Given the description of an element on the screen output the (x, y) to click on. 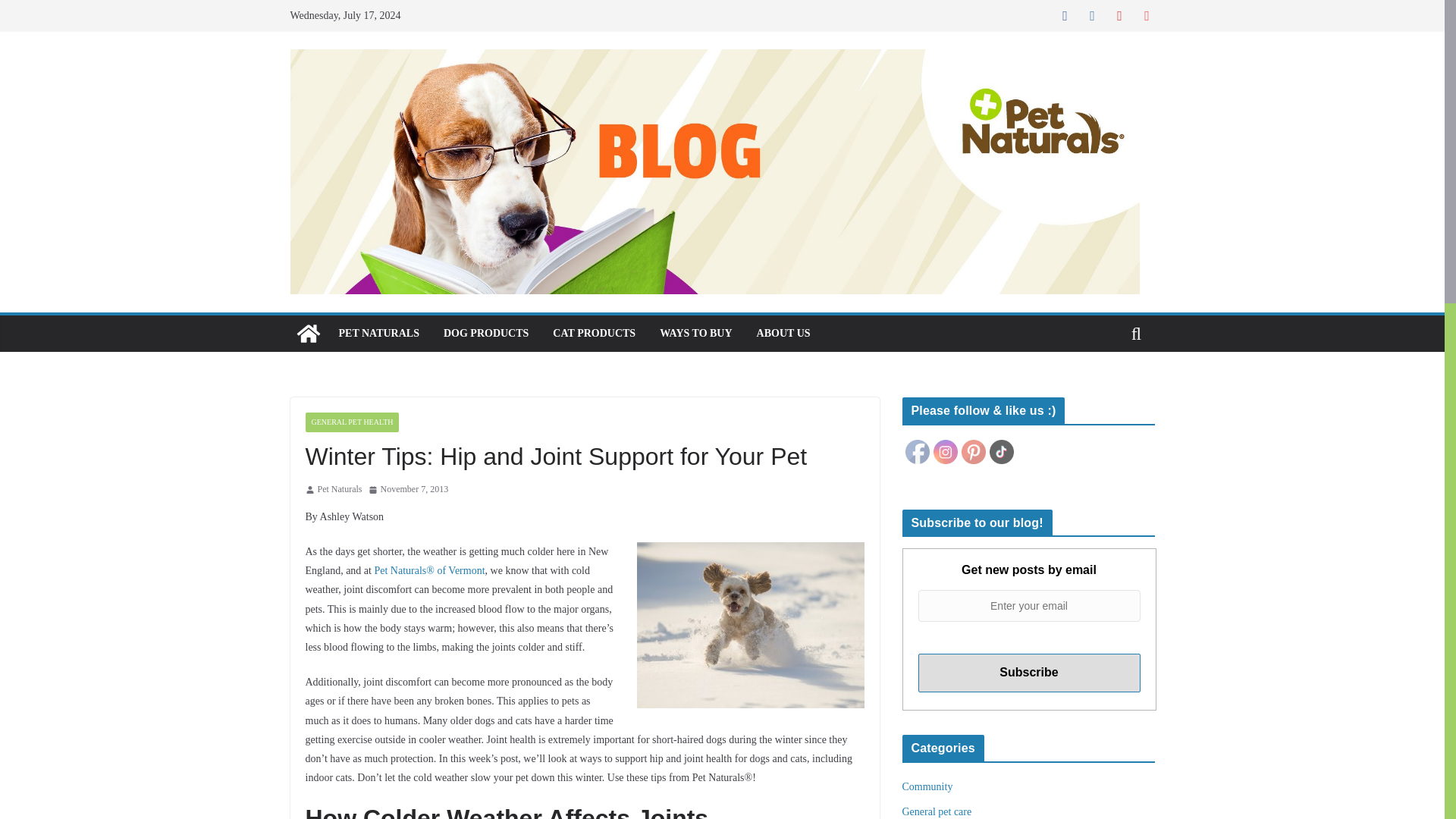
November 7, 2013 (408, 489)
Tiktok (1000, 451)
Subscribe (1028, 672)
ABOUT US (783, 332)
DOG PRODUCTS (486, 332)
Community (927, 786)
WAYS TO BUY (695, 332)
GENERAL PET HEALTH (351, 422)
Subscribe (1028, 672)
Pet Naturals (339, 489)
General pet care (937, 811)
Facebook (917, 451)
PET NATURALS (378, 332)
CAT PRODUCTS (593, 332)
Pet Naturals Blog (307, 333)
